Given the description of an element on the screen output the (x, y) to click on. 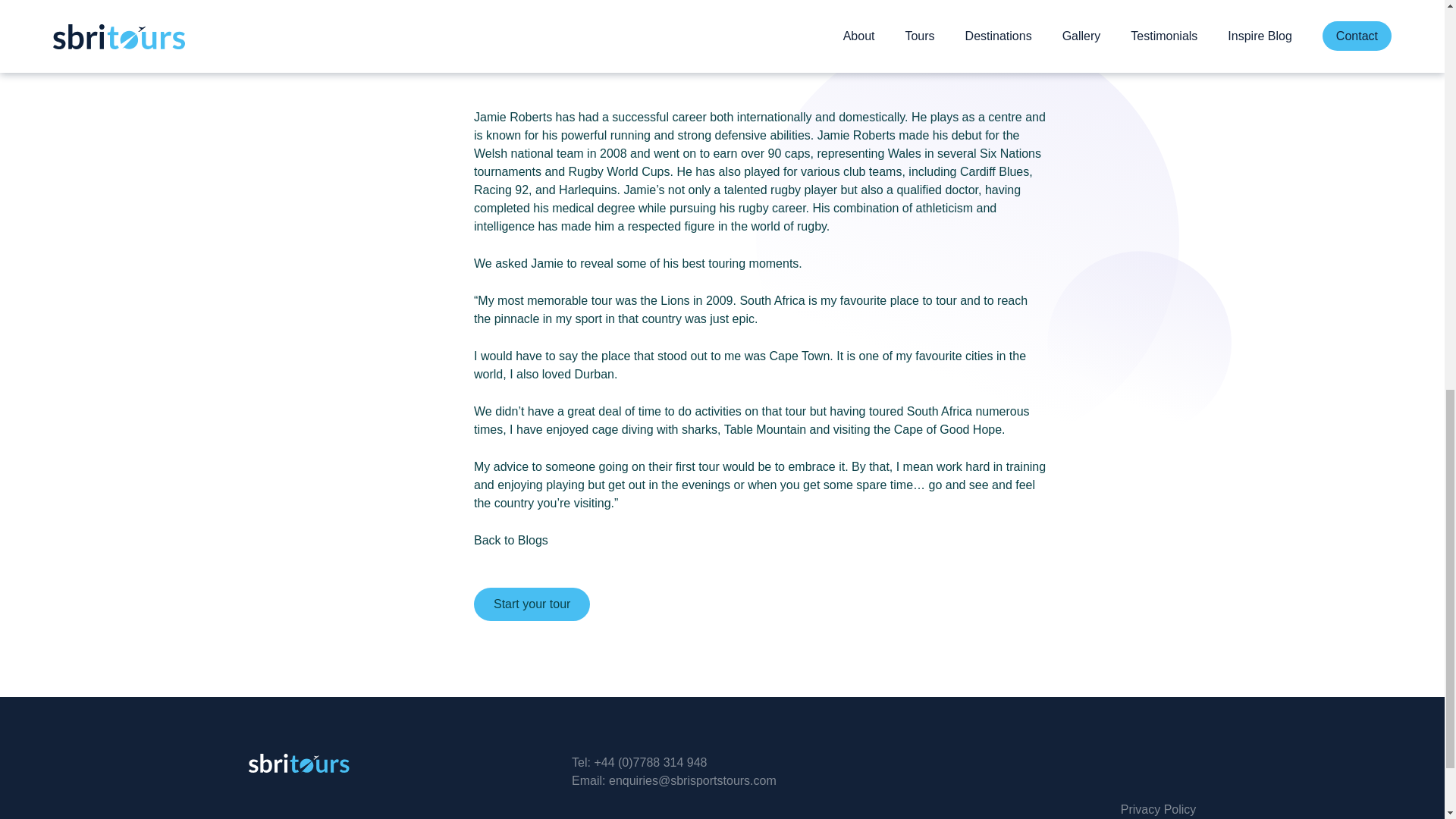
Back to Blogs (511, 540)
Start your tour (531, 604)
Privacy Policy (1158, 809)
